Given the description of an element on the screen output the (x, y) to click on. 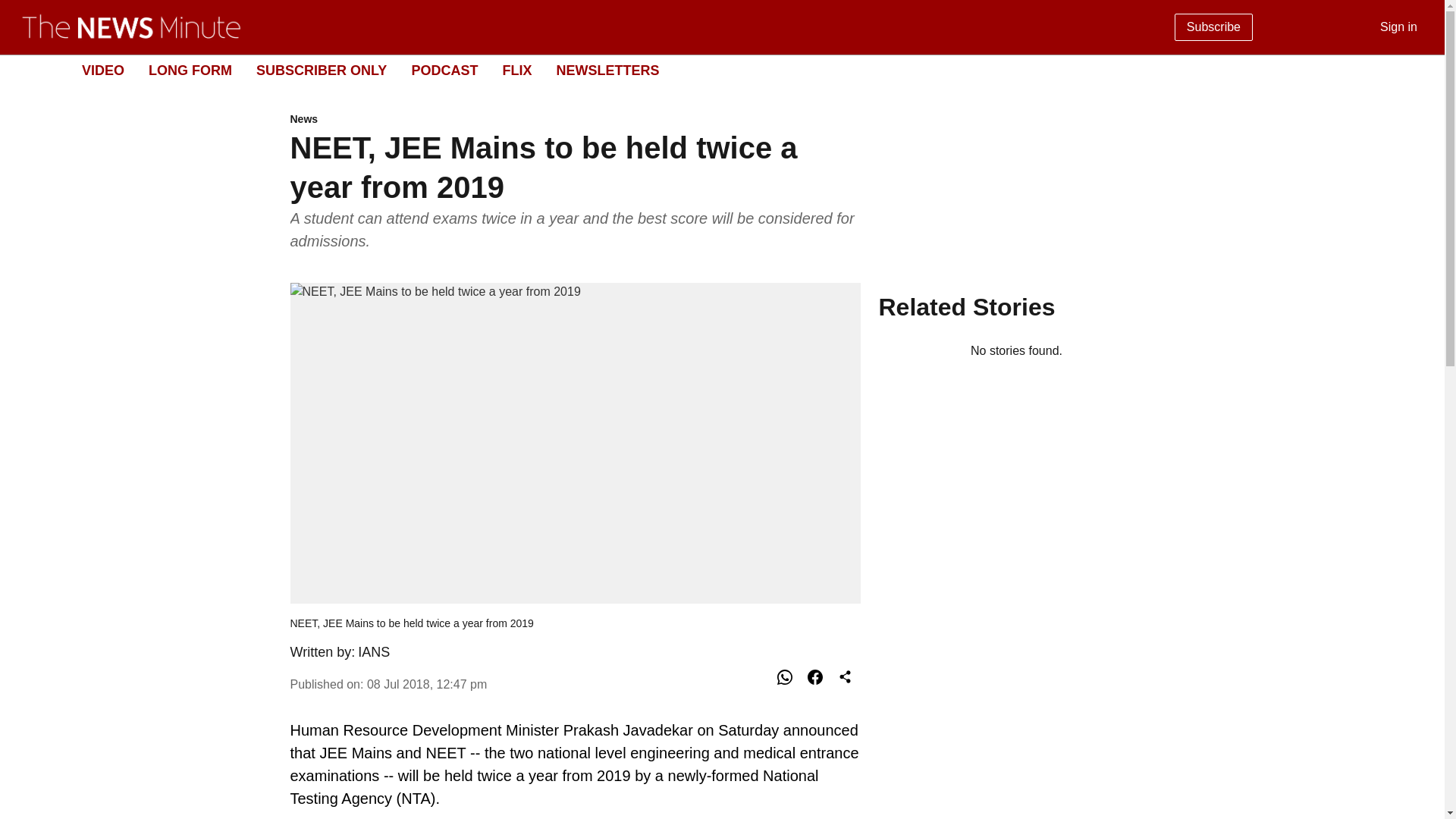
SUBSCRIBER ONLY (321, 70)
2018-07-08 04:47 (709, 70)
Dark Mode (426, 684)
FLIX (1415, 70)
LONG FORM (516, 70)
PODCAST (189, 70)
IANS (443, 70)
NEWSLETTERS (374, 652)
News (607, 70)
VIDEO (574, 119)
